Given the description of an element on the screen output the (x, y) to click on. 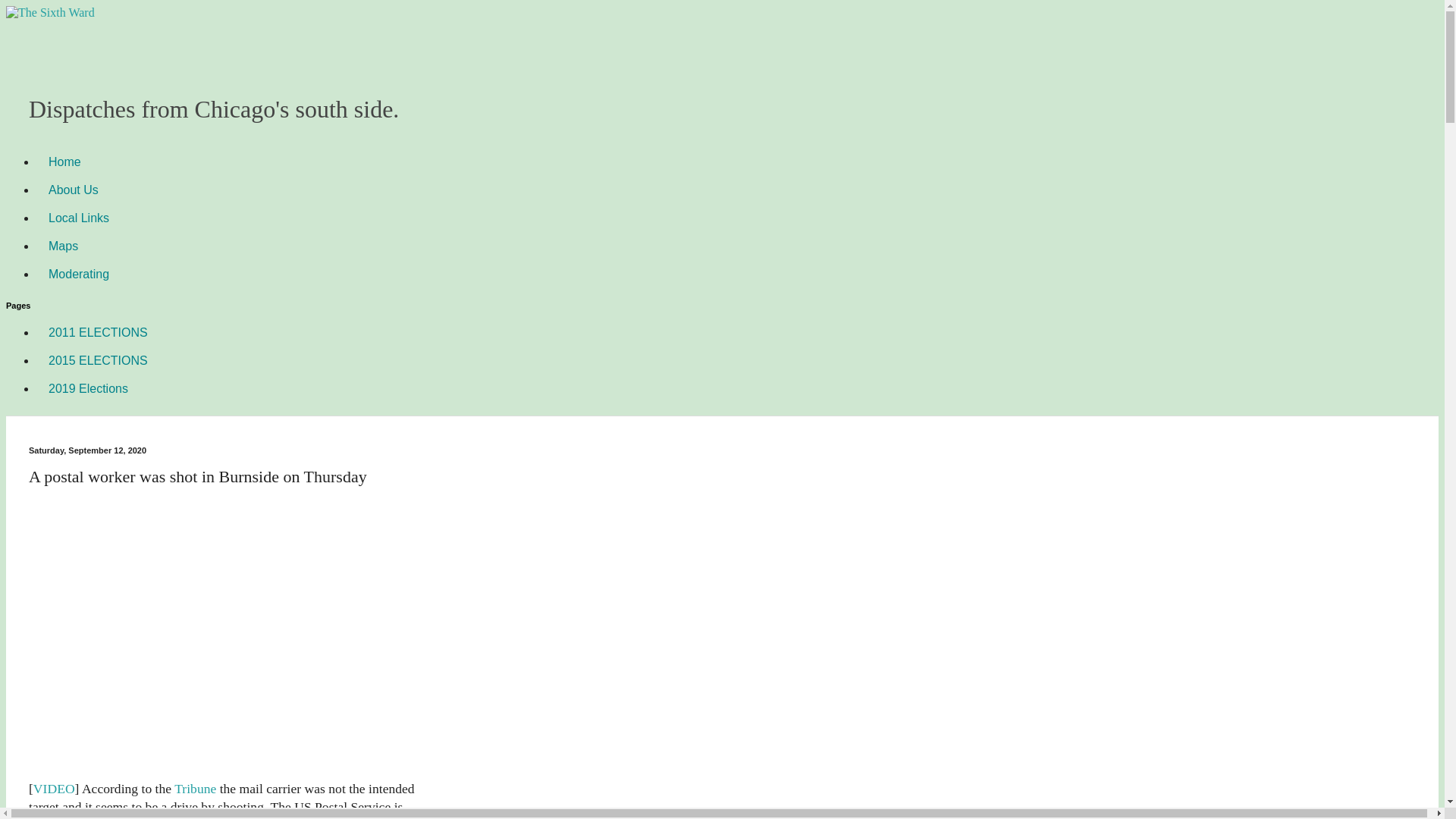
Home (64, 162)
Moderating (78, 275)
VIDEO (54, 788)
Tribune (194, 788)
2015 ELECTIONS (98, 360)
2019 Elections (87, 388)
2011 ELECTIONS (98, 332)
Maps (63, 246)
Local Links (78, 217)
About Us (73, 189)
